Given the description of an element on the screen output the (x, y) to click on. 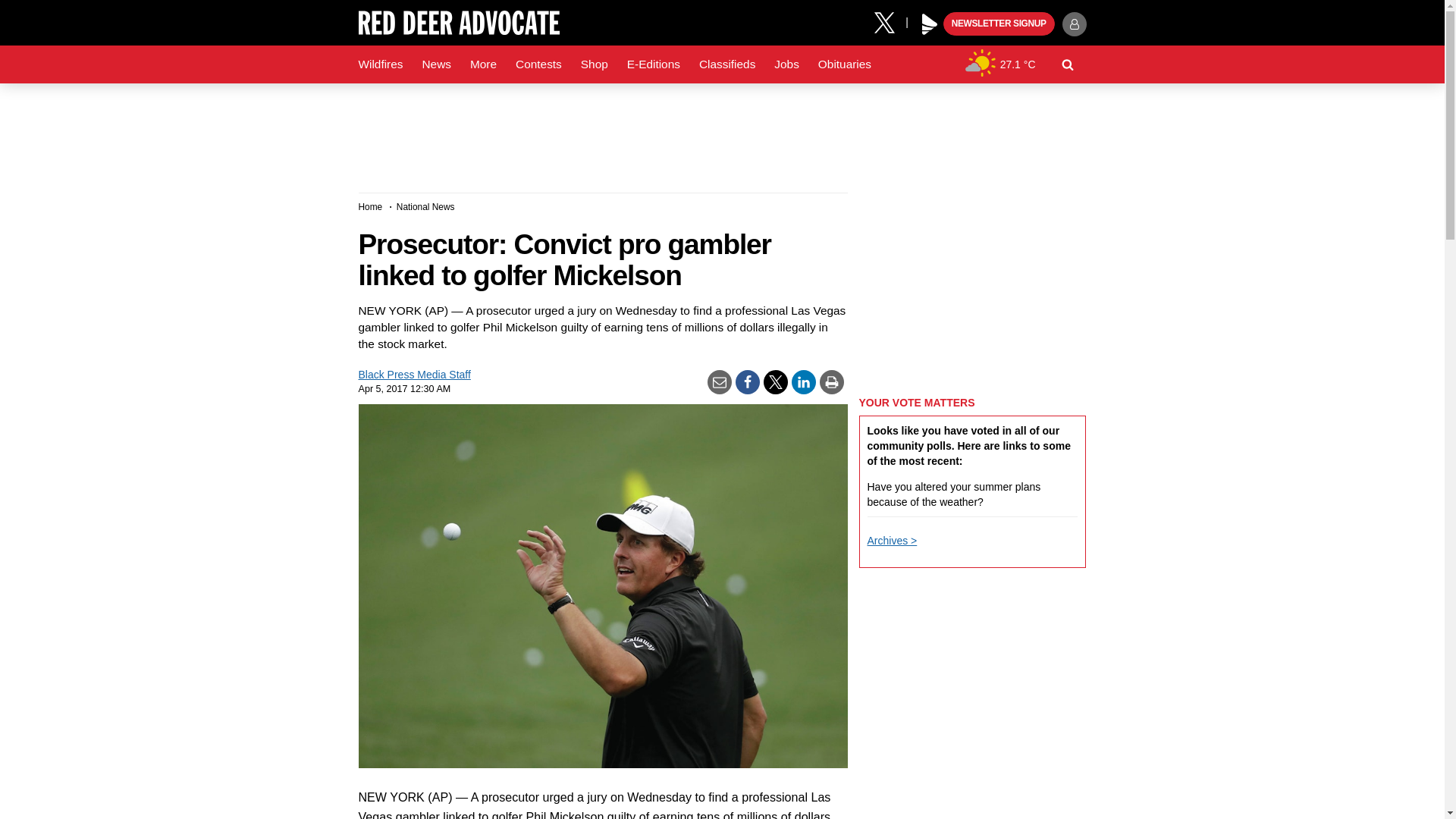
X (889, 21)
Play (929, 24)
Black Press Media (929, 24)
NEWSLETTER SIGNUP (998, 24)
News (435, 64)
Wildfires (380, 64)
